Given the description of an element on the screen output the (x, y) to click on. 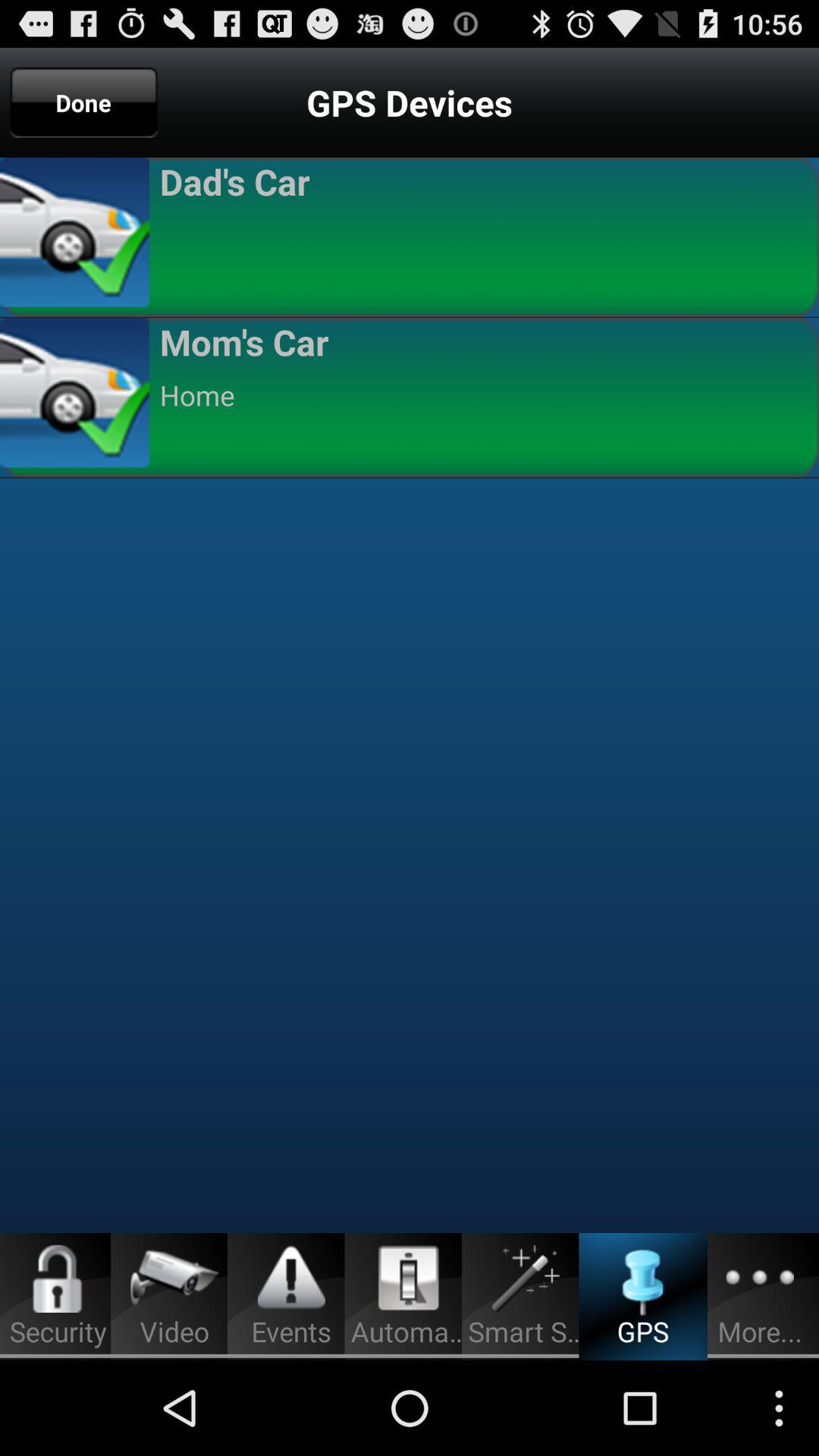
press home (481, 395)
